Given the description of an element on the screen output the (x, y) to click on. 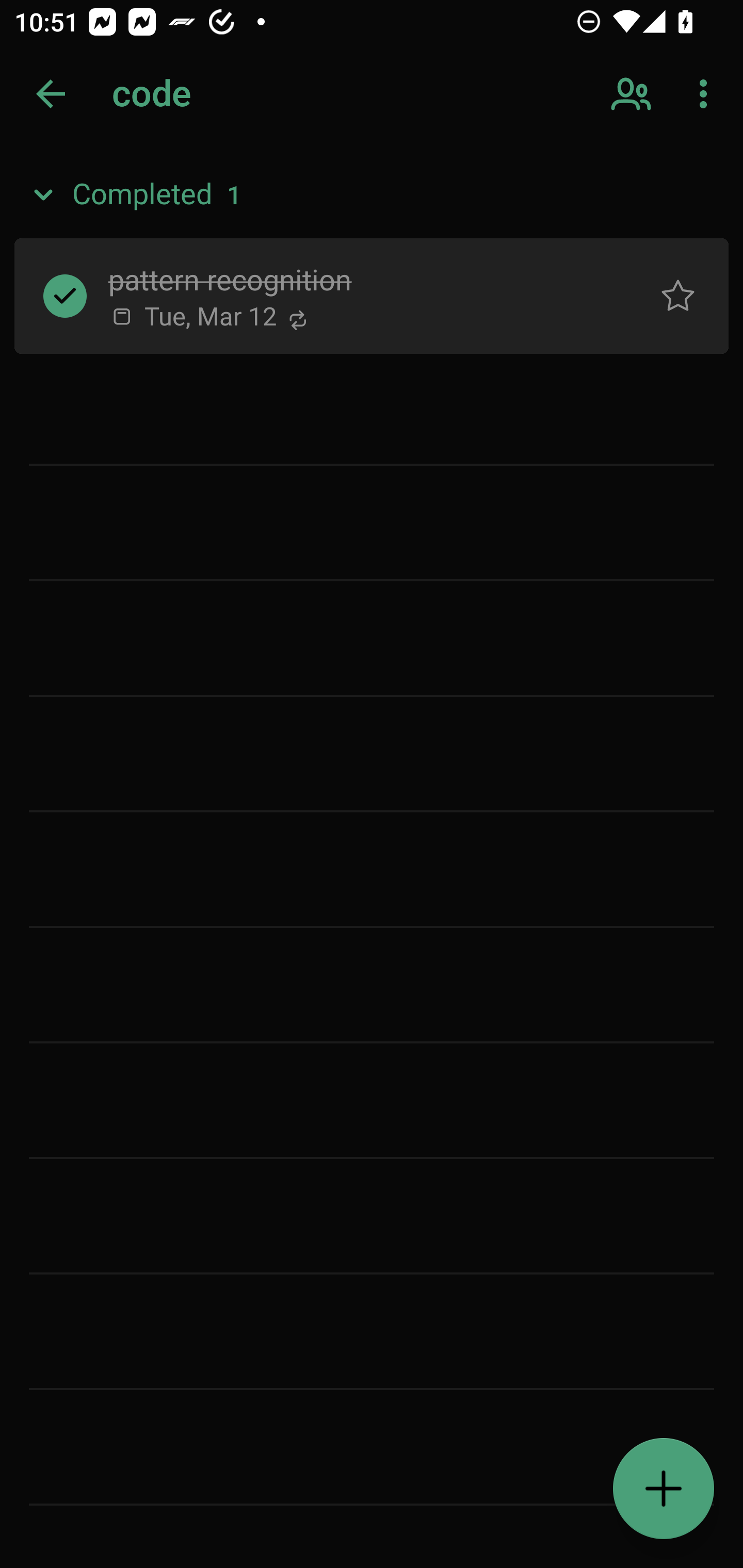
testappium002@outlook.com Enter search (185, 93)
Sharing options (632, 93)
More options (706, 93)
Completed, 1 item, Expanded Completed 1 (371, 195)
Completed task pattern recognition, Button (64, 295)
Normal task pattern recognition, Button (677, 295)
Add a task (663, 1488)
